Given the description of an element on the screen output the (x, y) to click on. 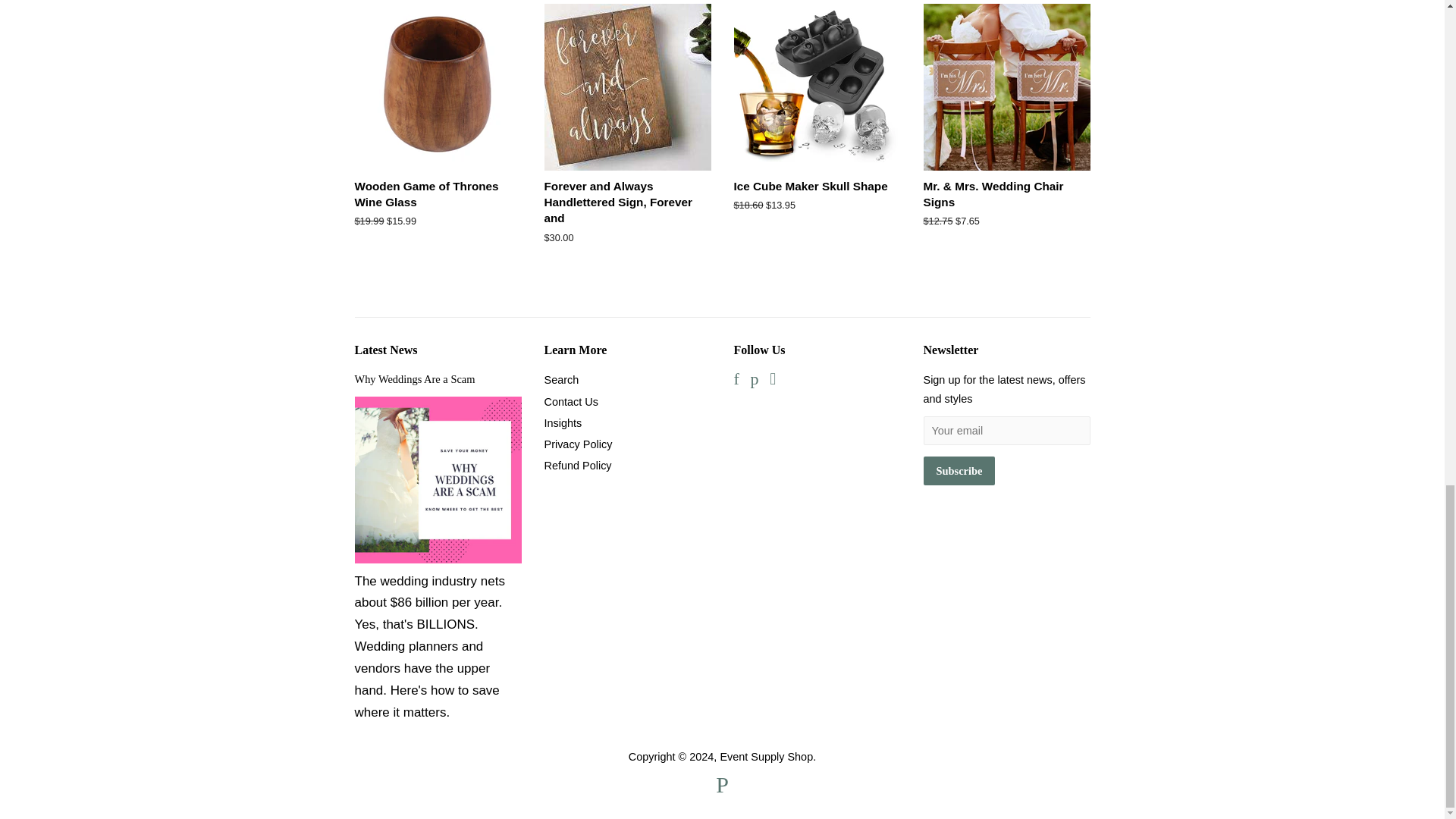
Subscribe (959, 471)
